Given the description of an element on the screen output the (x, y) to click on. 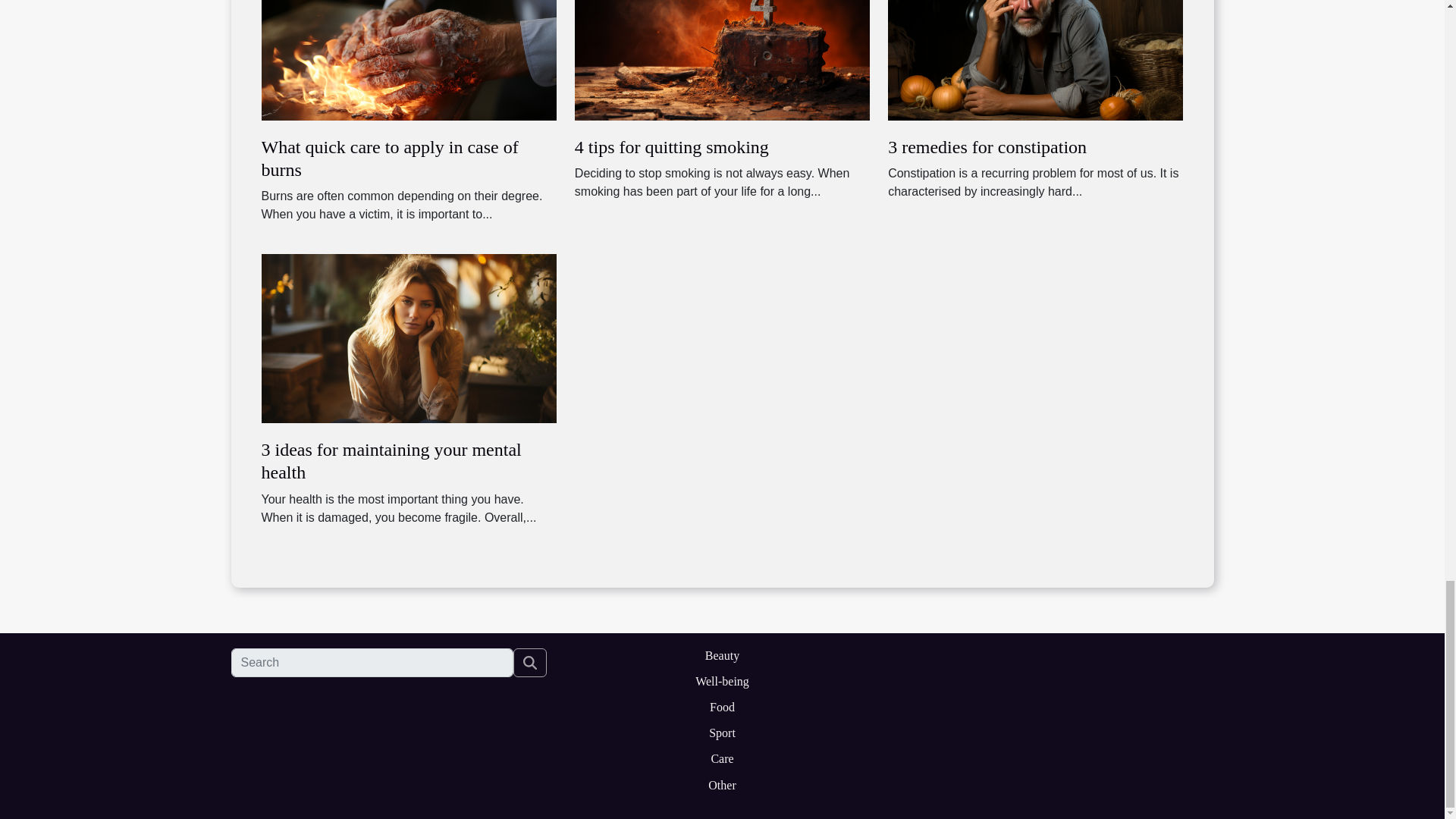
Food (722, 707)
3 remedies for constipation (1035, 34)
Well-being (722, 680)
What quick care to apply in case of burns (389, 158)
4 tips for quitting smoking (722, 34)
3 remedies for constipation (987, 147)
4 tips for quitting smoking (671, 147)
Beauty (721, 655)
3 ideas for maintaining your mental health (390, 460)
What quick care to apply in case of burns (389, 158)
